Given the description of an element on the screen output the (x, y) to click on. 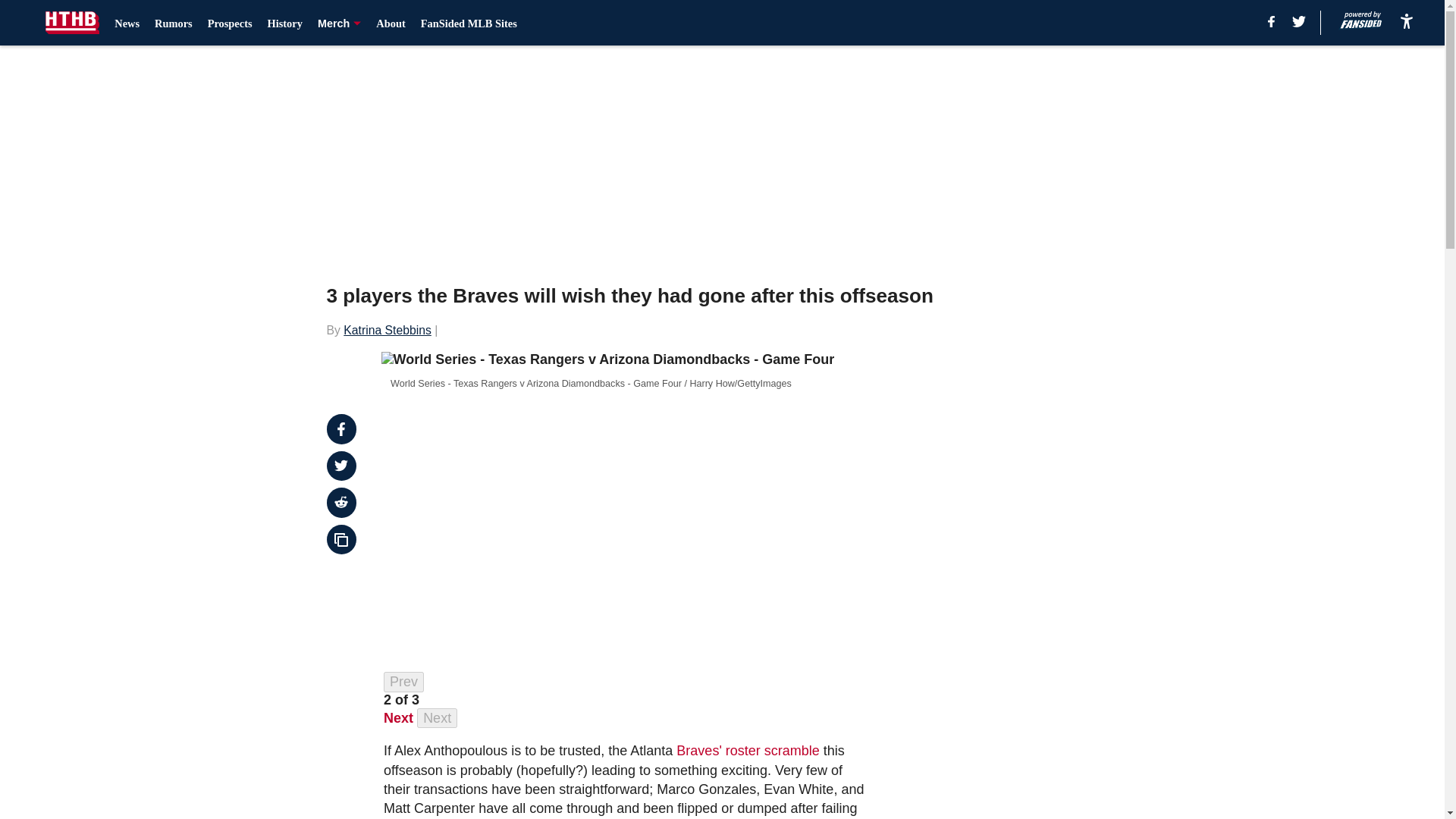
About (389, 23)
News (127, 23)
FanSided MLB Sites (468, 23)
Next (436, 718)
History (284, 23)
Braves' roster scramble (748, 750)
Rumors (173, 23)
Next (398, 717)
Katrina Stebbins (386, 329)
Prev (403, 681)
Prospects (229, 23)
